Given the description of an element on the screen output the (x, y) to click on. 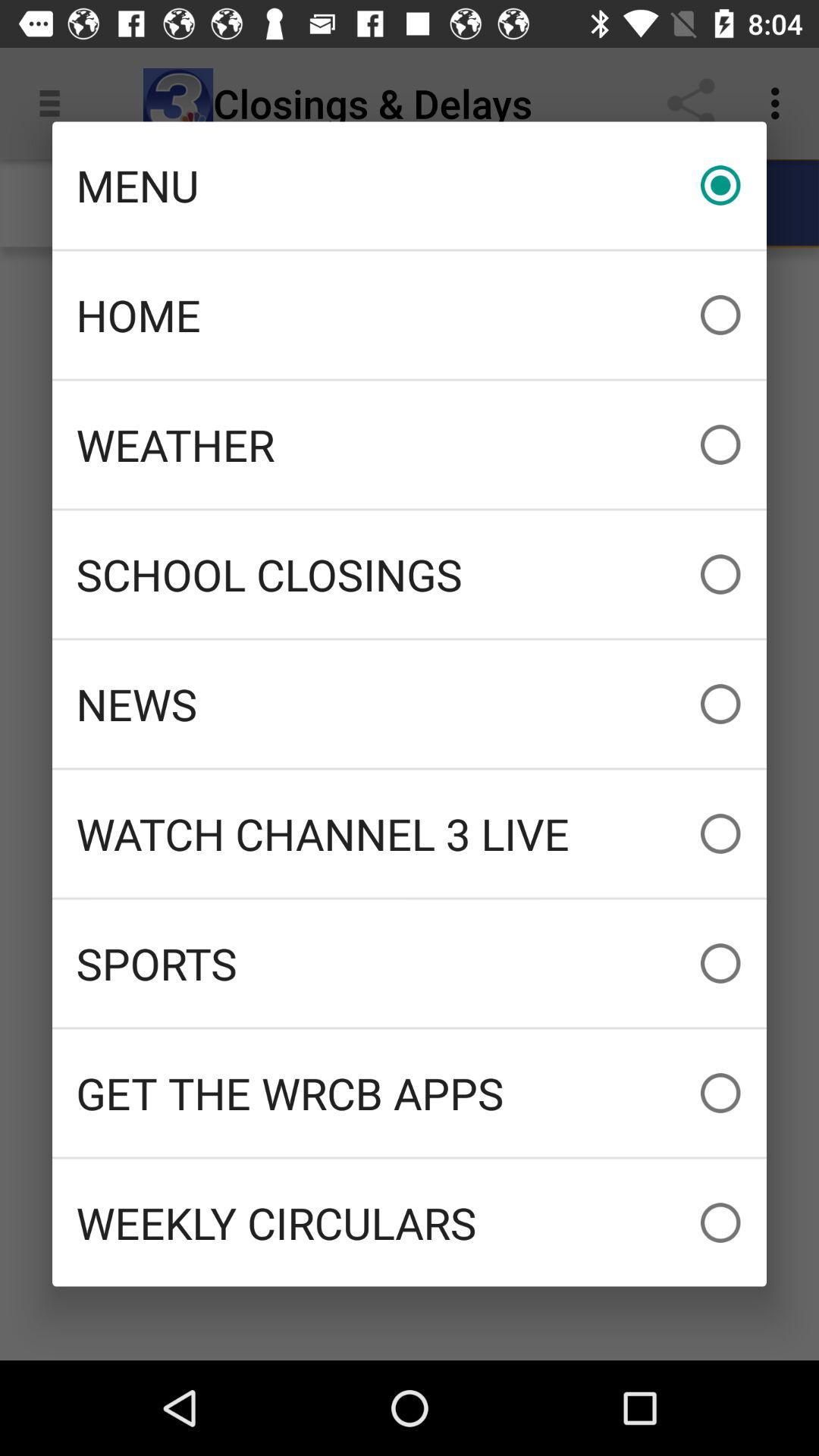
choose sports (409, 963)
